Given the description of an element on the screen output the (x, y) to click on. 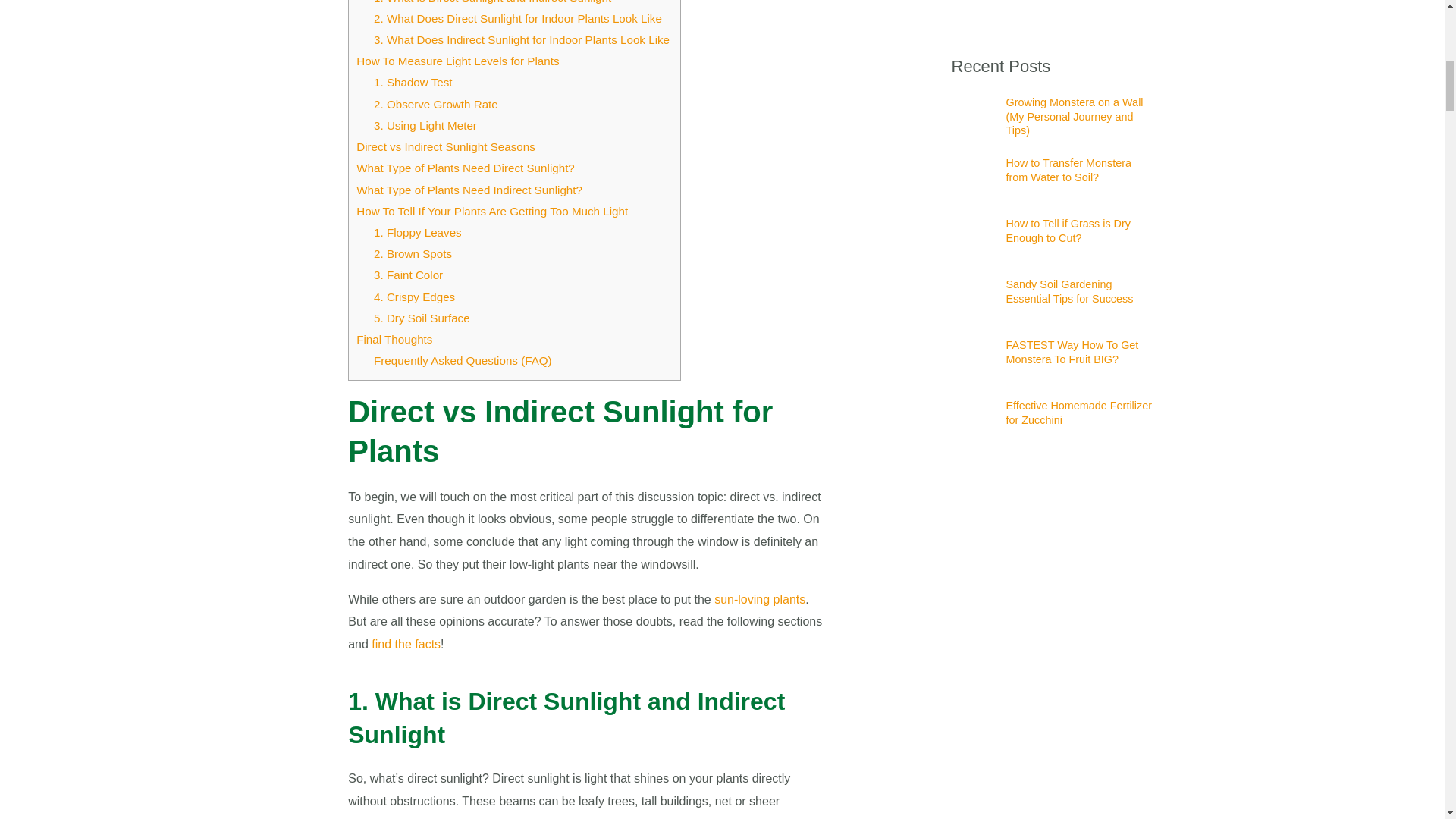
Final Thoughts (394, 338)
How To Measure Light Levels for Plants (457, 60)
What Type of Plants Need Indirect Sunlight? (469, 189)
1. Floppy Leaves (417, 232)
3. Faint Color (408, 274)
4. Crispy Edges (414, 296)
1. What is Direct Sunlight and Indirect Sunlight  (494, 2)
sun-loving plants (759, 599)
3. What Does Indirect Sunlight for Indoor Plants Look Like  (523, 39)
2. What Does Direct Sunlight for Indoor Plants Look Like  (519, 18)
1. Shadow Test (413, 82)
How To Tell If Your Plants Are Getting Too Much Light (491, 210)
2. Observe Growth Rate (435, 103)
Direct vs Indirect Sunlight Seasons (445, 146)
2. Brown Spots (412, 253)
